Given the description of an element on the screen output the (x, y) to click on. 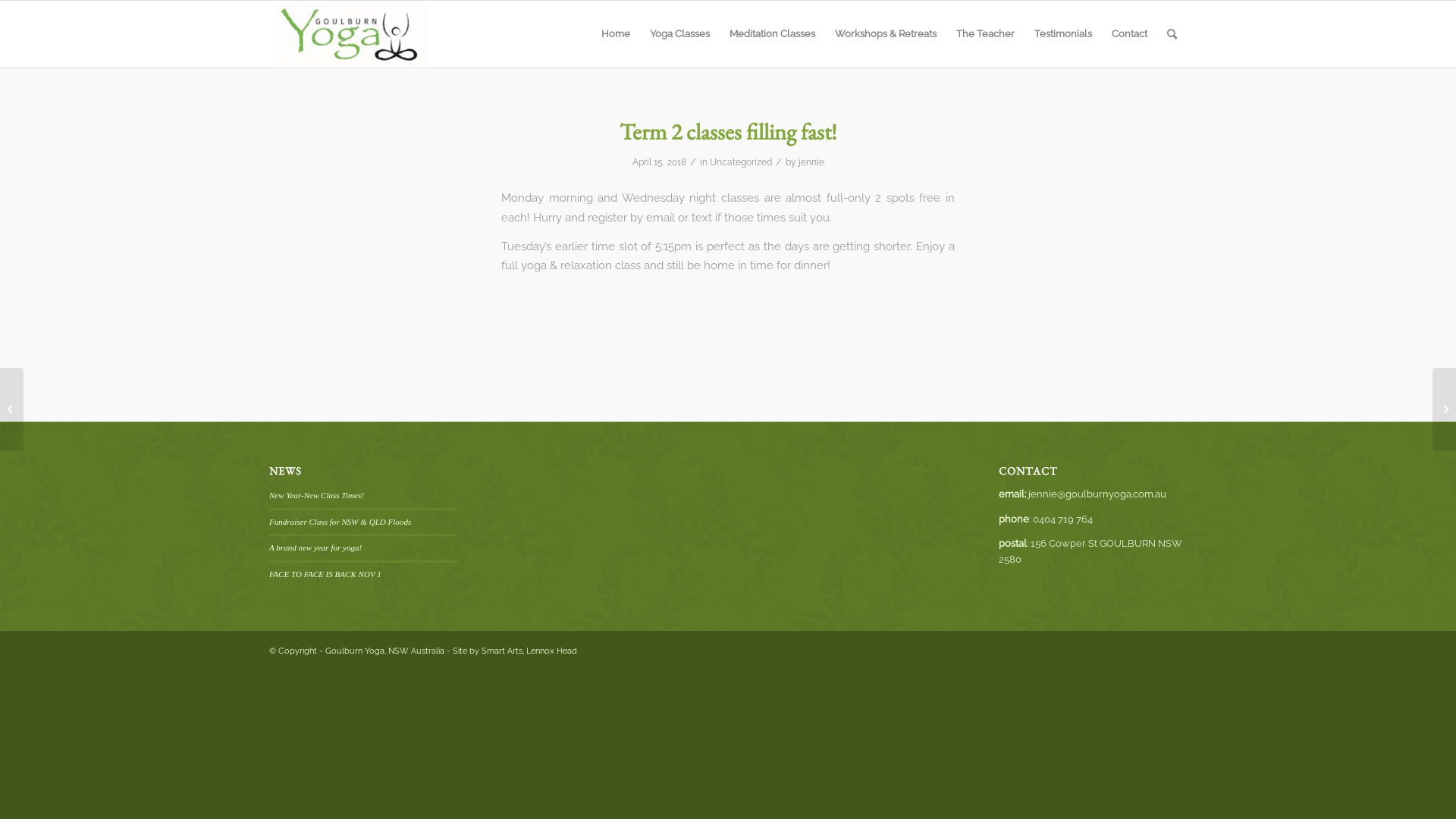
Uncategorized Element type: text (740, 161)
Workshops & Retreats Element type: text (885, 33)
jennie@goulburnyoga.com.au Element type: text (1097, 493)
jennie Element type: text (810, 161)
Home Element type: text (615, 33)
FACE TO FACE IS BACK NOV 1 Element type: text (325, 573)
Testimonials Element type: text (1062, 33)
A brand new year for yoga! Element type: text (315, 547)
The Teacher Element type: text (985, 33)
Meditation Classes Element type: text (772, 33)
Fundraiser Class for NSW & QLD Floods Element type: text (340, 521)
Contact Element type: text (1129, 33)
New Year-New Class Times! Element type: text (316, 494)
Yoga Classes Element type: text (679, 33)
